Given the description of an element on the screen output the (x, y) to click on. 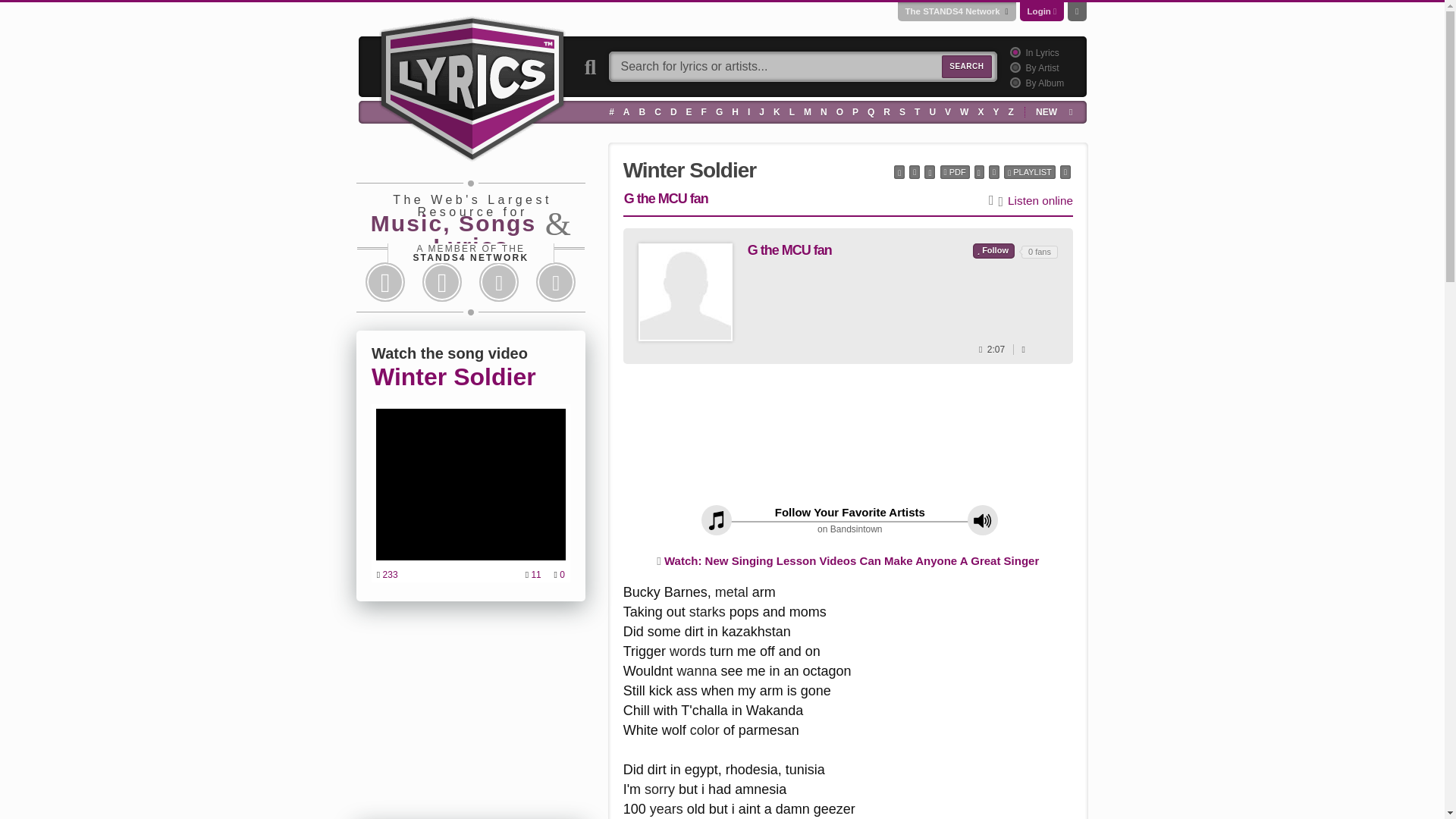
SEARCH (966, 66)
Login (1039, 10)
click to add your vote (993, 250)
click to add Winter Soldier to your playlist (1029, 172)
3 (1013, 81)
G the MCU fan (685, 291)
G the MCU fan (685, 291)
Listen to this song on Amazon (1040, 200)
Advertisement (847, 439)
1 (1013, 51)
